Given the description of an element on the screen output the (x, y) to click on. 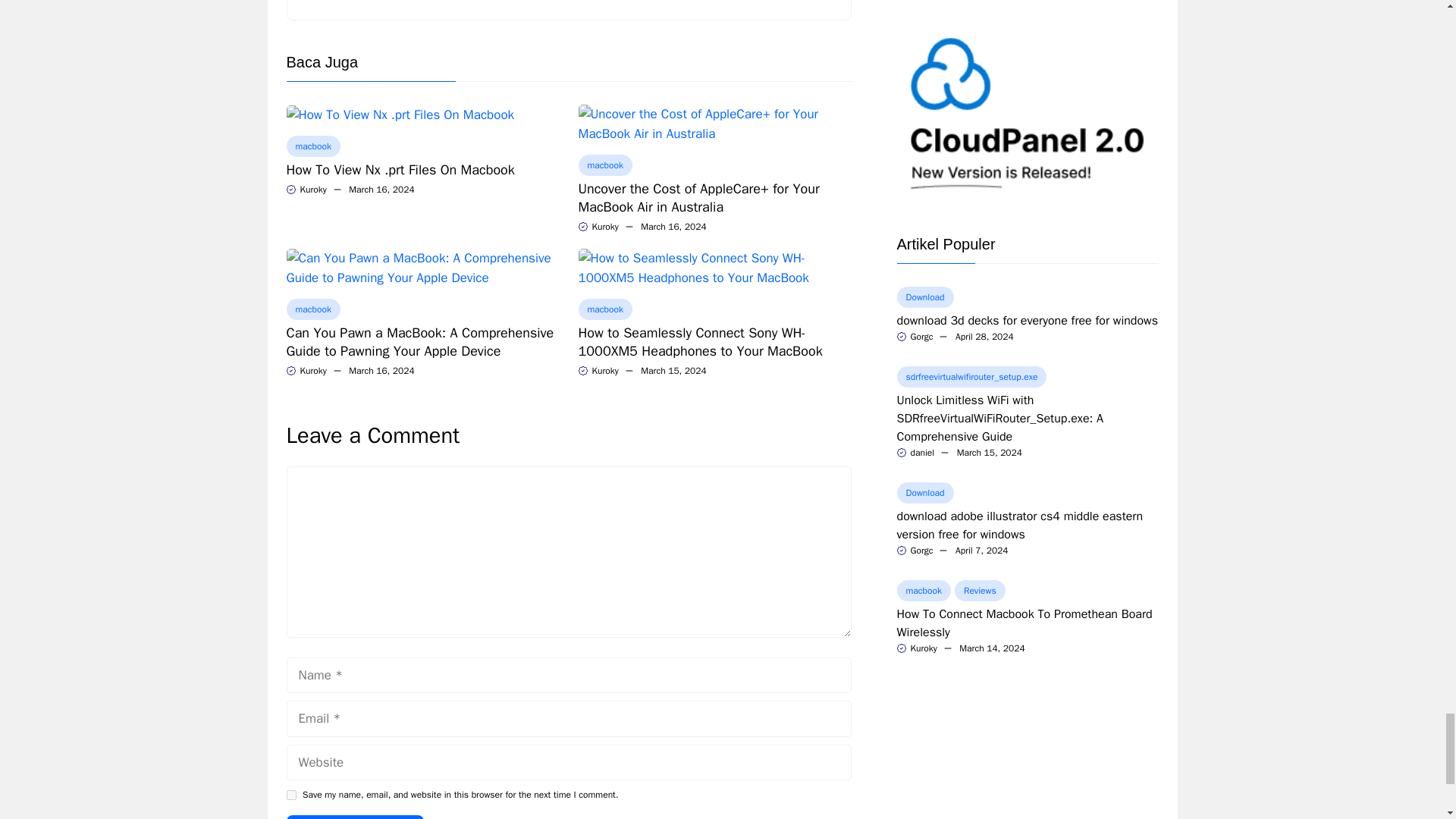
yes (291, 795)
How To View Nx .prt Files On Macbook (400, 169)
Kuroky (604, 370)
macbook (604, 309)
macbook (313, 309)
macbook (313, 146)
macbook (604, 165)
Kuroky (604, 226)
Post Comment (354, 816)
How To View Nx .prt Files On Macbook (400, 115)
Kuroky (312, 189)
